Given the description of an element on the screen output the (x, y) to click on. 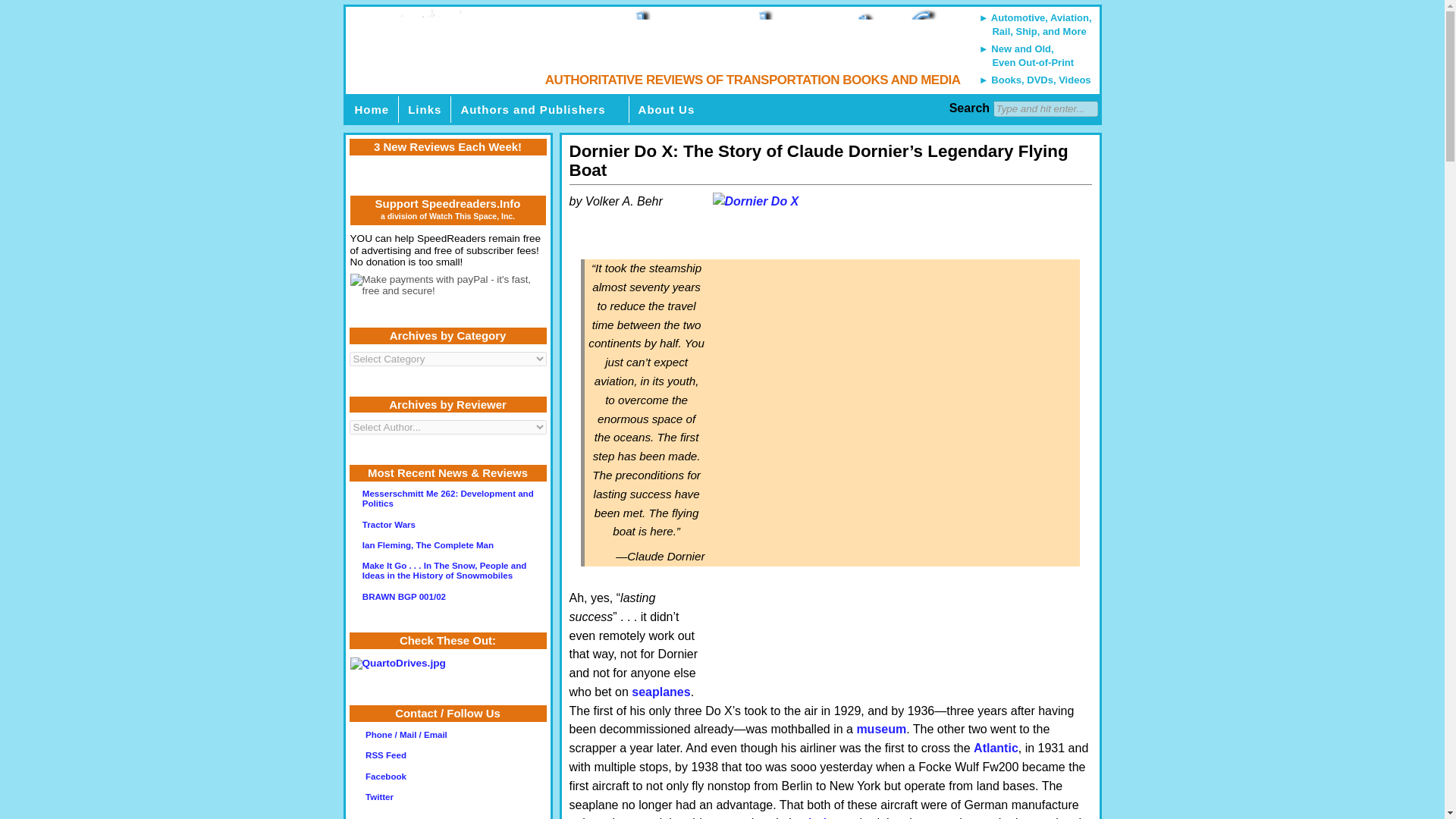
Atlantic (995, 748)
museum (880, 728)
About Us (672, 109)
Links (424, 109)
Type and hit enter... (1044, 108)
Authors and Publishers (539, 109)
Links (424, 109)
Authors and Publishers (539, 109)
Speedreaders.info (721, 50)
